Given the description of an element on the screen output the (x, y) to click on. 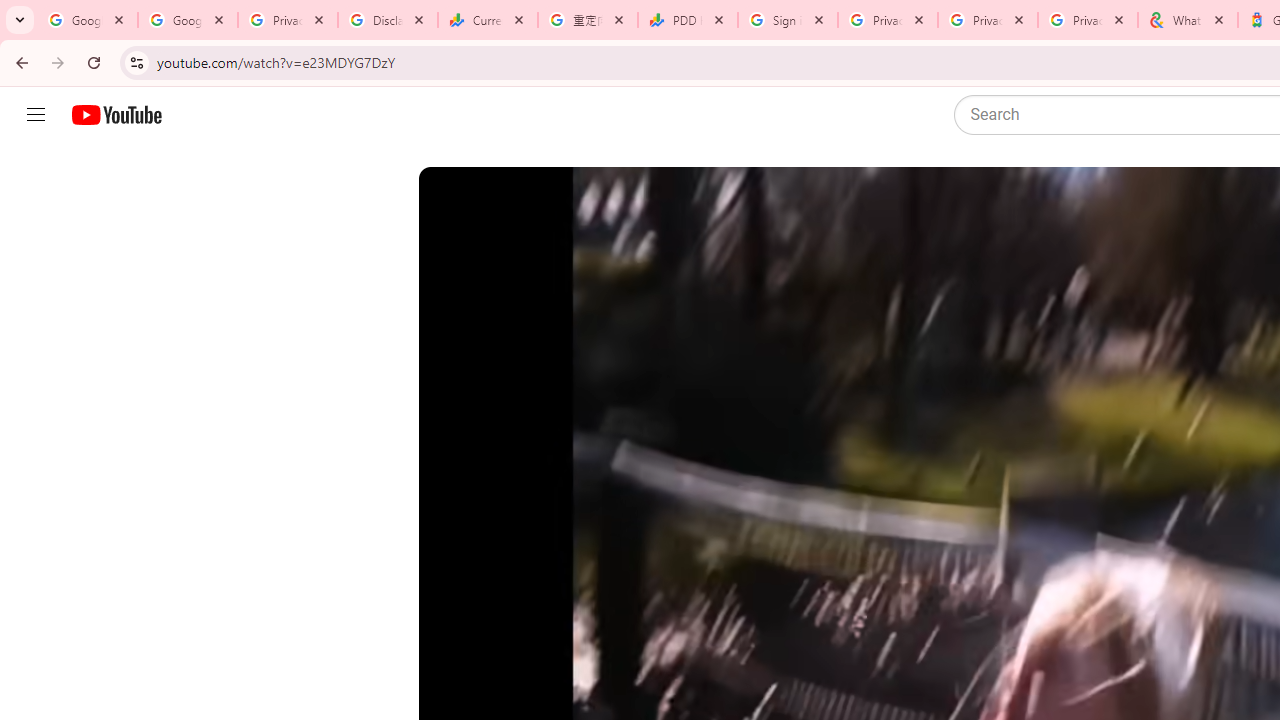
Currencies - Google Finance (487, 20)
Privacy Checkup (1087, 20)
Sign in - Google Accounts (788, 20)
PDD Holdings Inc - ADR (PDD) Price & News - Google Finance (687, 20)
